Given the description of an element on the screen output the (x, y) to click on. 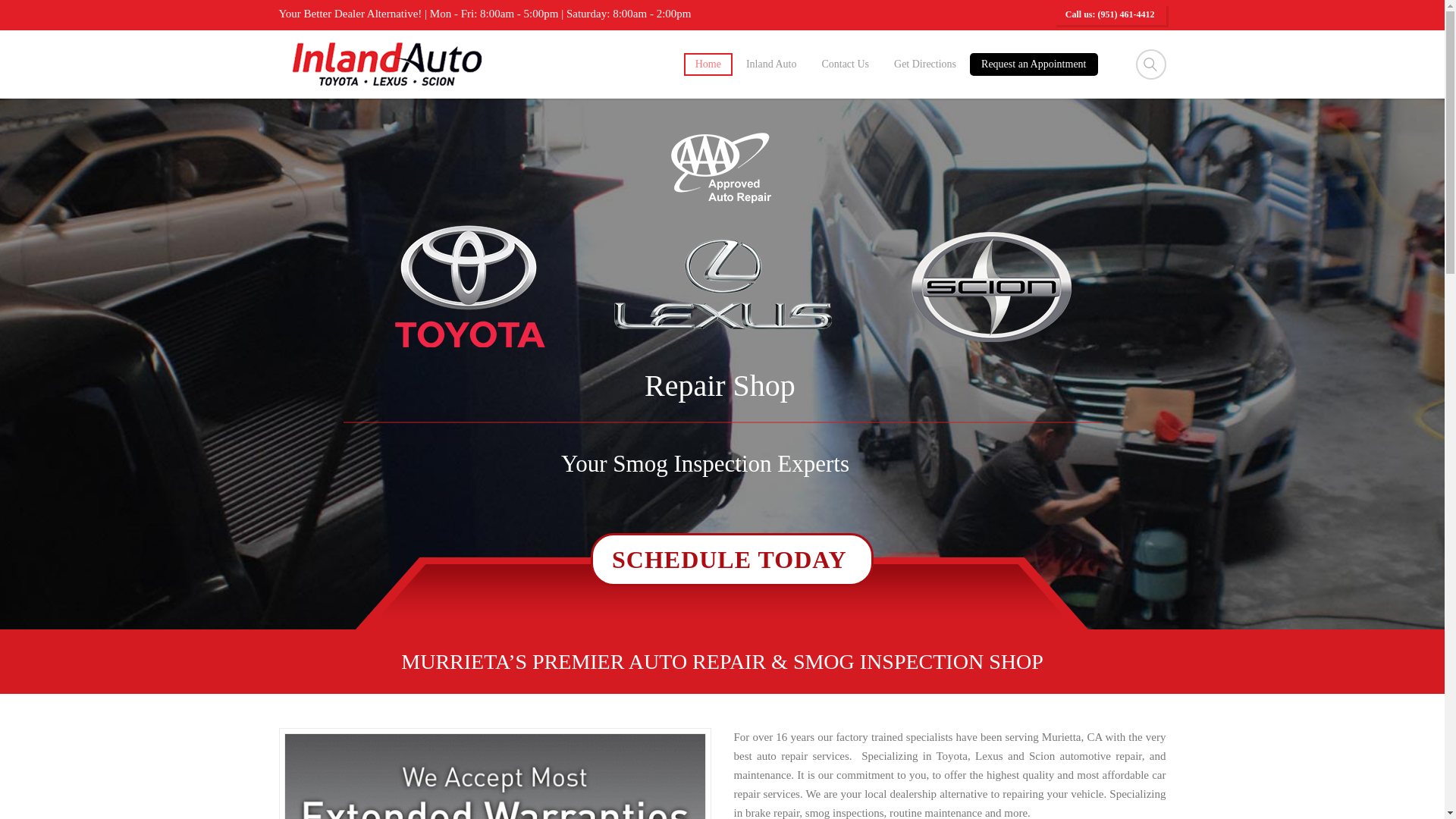
Inland Auto (771, 64)
Get Directions (925, 64)
Request an Appointment (1033, 64)
Contact Us (844, 64)
Home (708, 64)
